Given the description of an element on the screen output the (x, y) to click on. 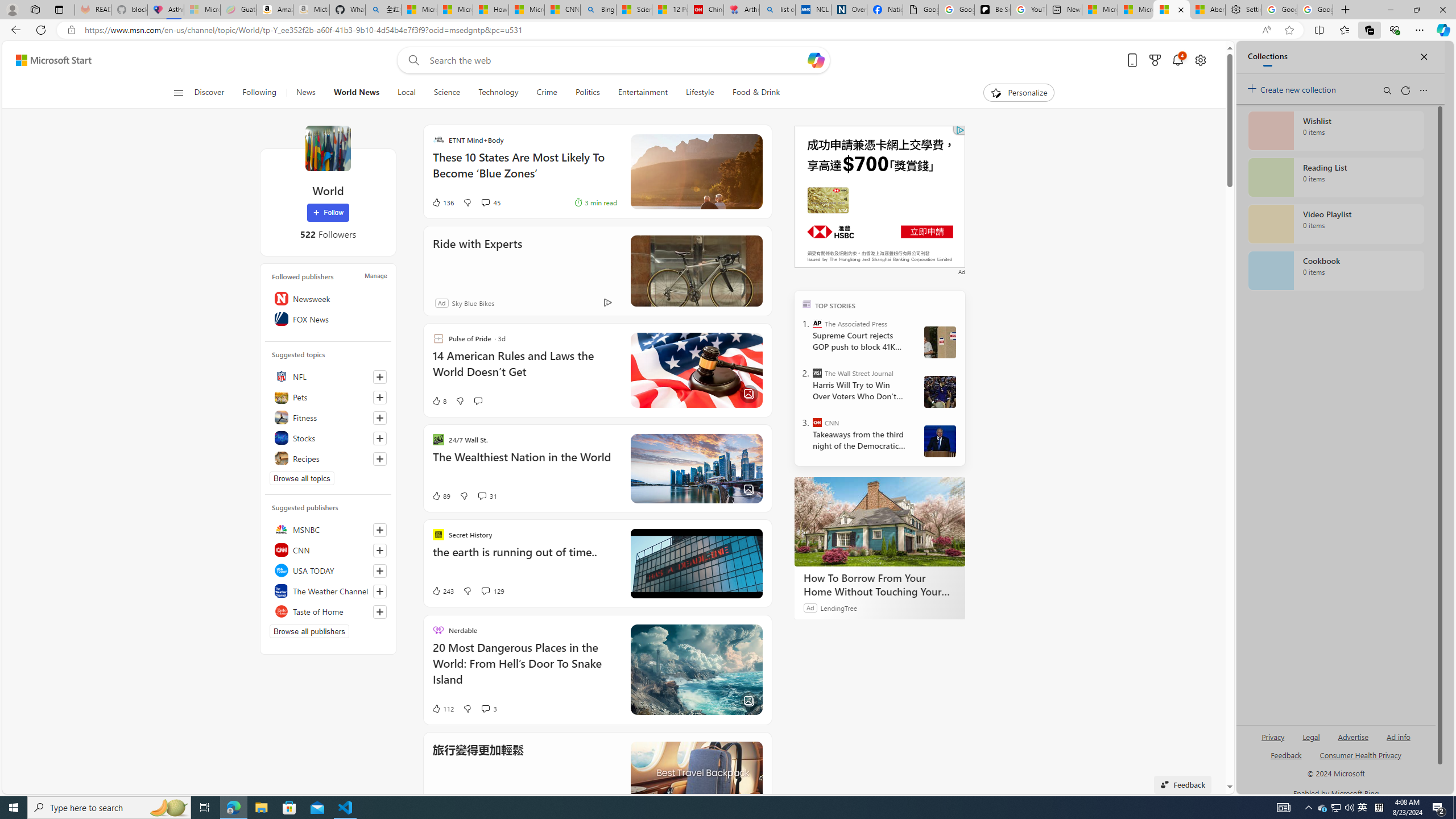
Recipes (327, 458)
Ride with Experts (477, 259)
The Wall Street Journal (816, 372)
Fitness (327, 417)
